Given the description of an element on the screen output the (x, y) to click on. 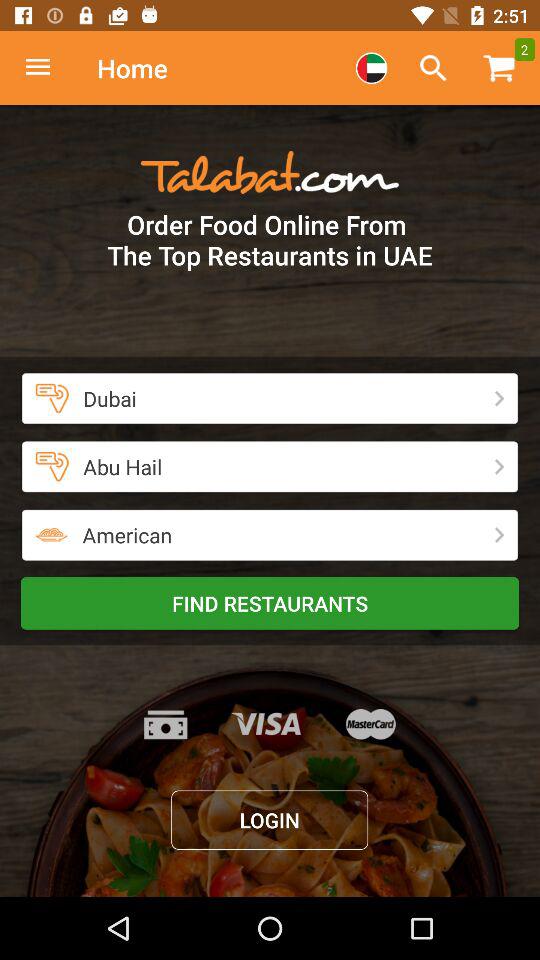
opens search dialogue (433, 68)
